Given the description of an element on the screen output the (x, y) to click on. 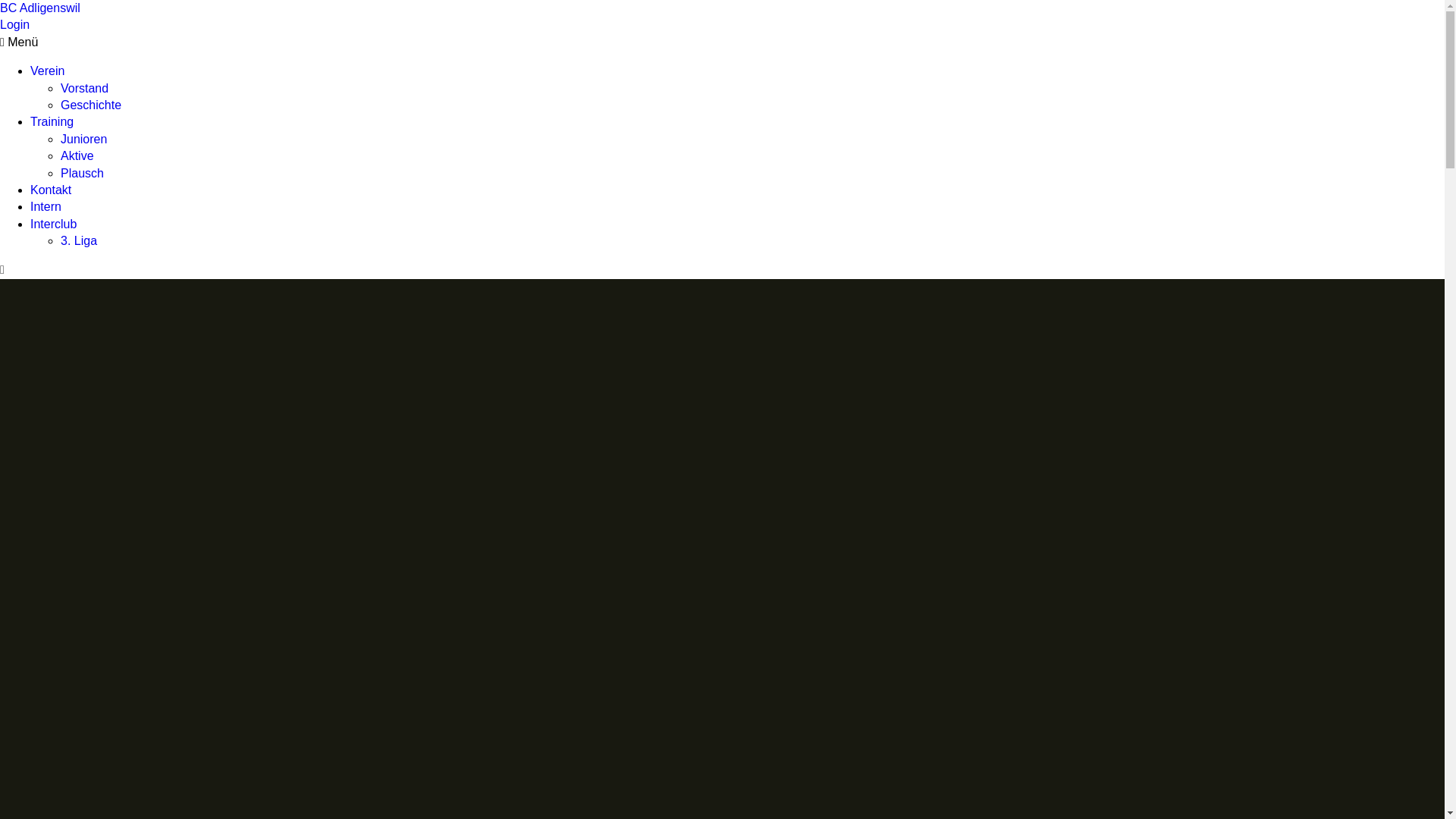
BC Adligenswil Element type: text (40, 7)
3. Liga Element type: text (78, 240)
Aktive Element type: text (77, 155)
Vorstand Element type: text (84, 87)
Geschichte Element type: text (90, 104)
Interclub Element type: text (53, 223)
Plausch Element type: text (81, 172)
Verein Element type: text (47, 70)
Kontakt Element type: text (50, 189)
Junioren Element type: text (83, 138)
Login Element type: text (14, 24)
Intern Element type: text (45, 206)
Training Element type: text (51, 121)
